Given the description of an element on the screen output the (x, y) to click on. 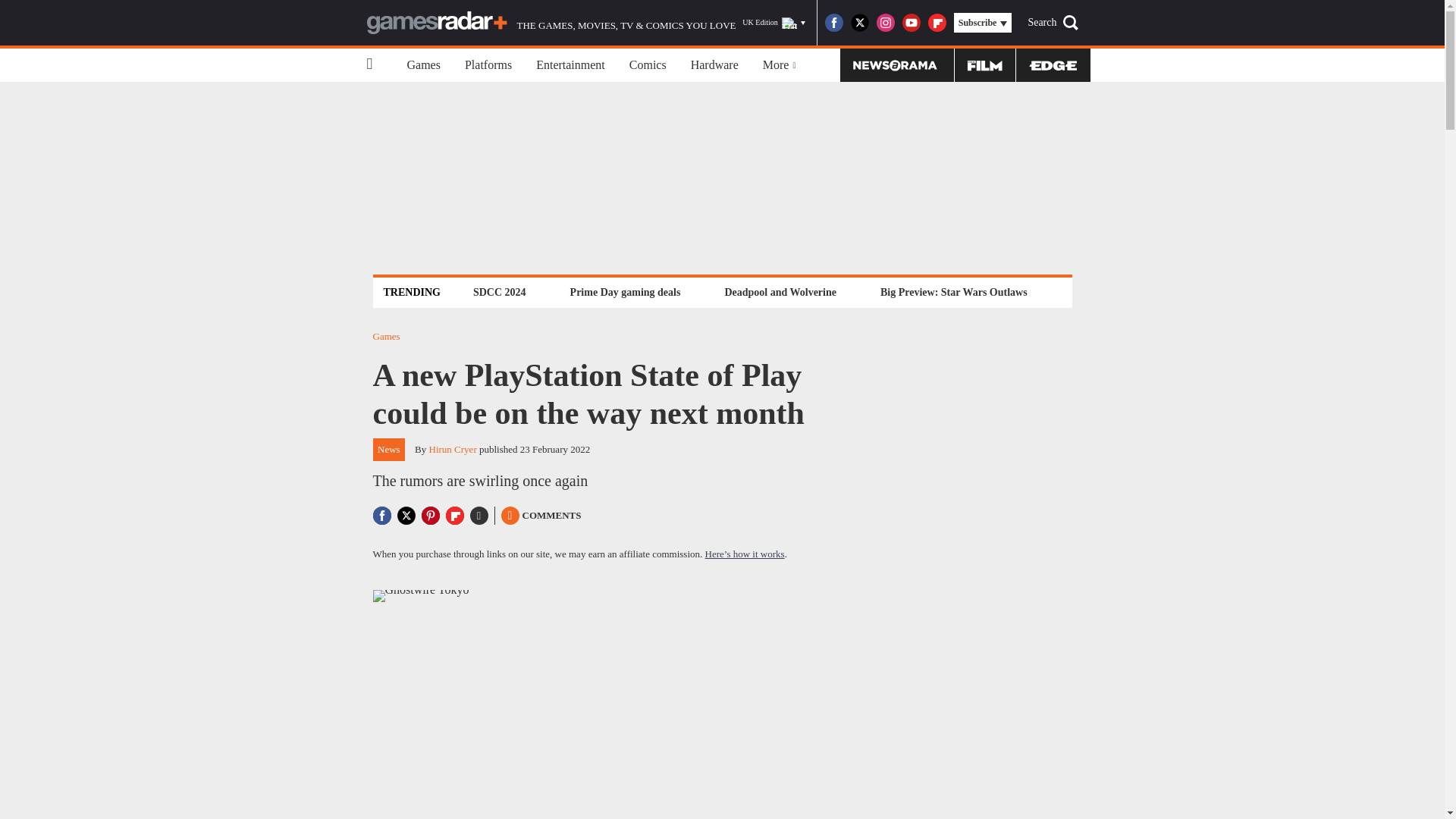
Entertainment (570, 64)
UK Edition (773, 22)
Platforms (488, 64)
SDCC 2024 (499, 292)
Hardware (714, 64)
Deadpool and Wolverine (780, 292)
Prime Day gaming deals (624, 292)
Comics (647, 64)
Big Preview: Star Wars Outlaws (953, 292)
Games (422, 64)
